Given the description of an element on the screen output the (x, y) to click on. 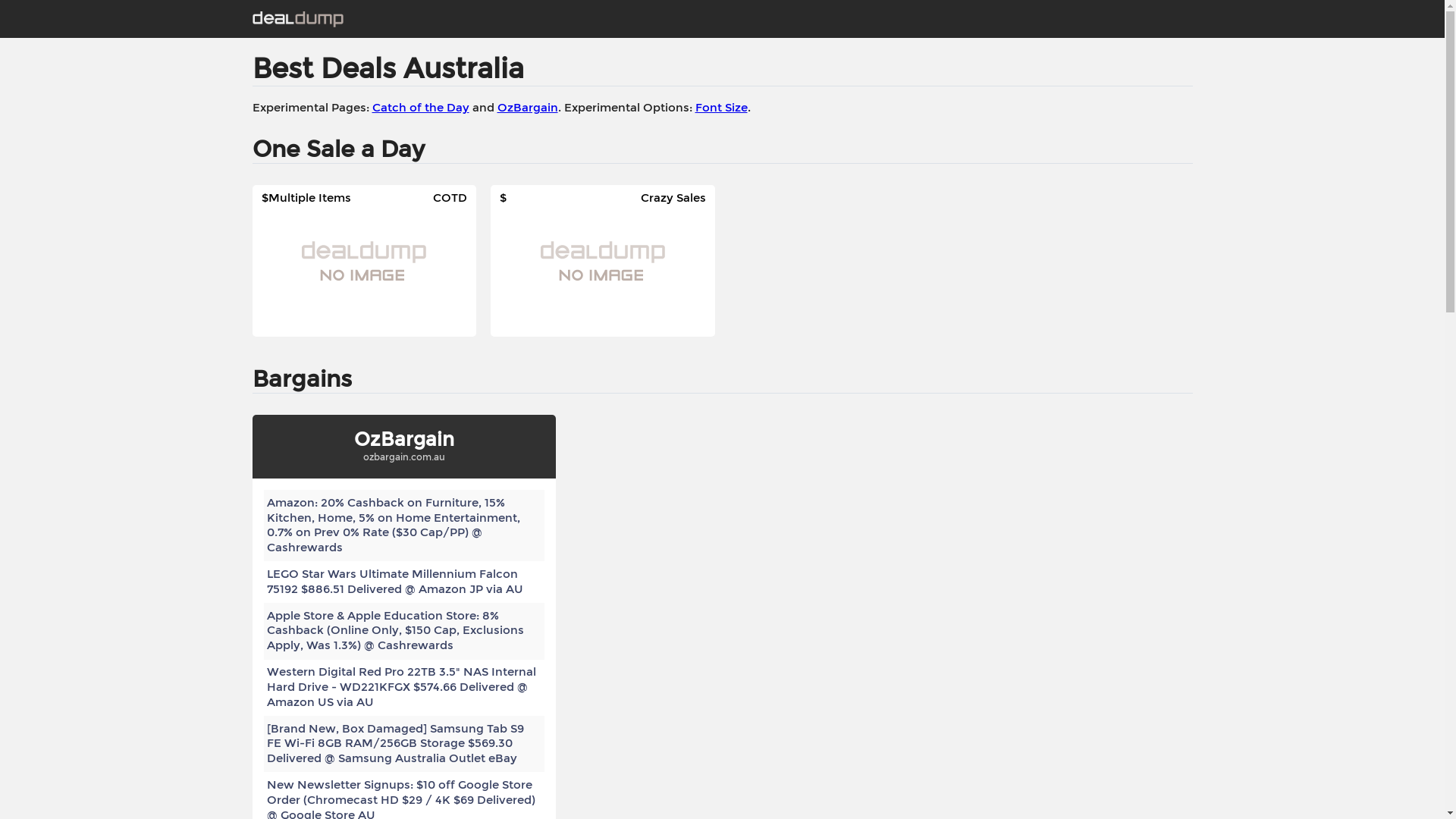
Catch of the Day Element type: text (419, 107)
OzBargain Element type: text (527, 107)
Font Size Element type: text (720, 107)
ozbargain.com.au Element type: text (403, 456)
